Given the description of an element on the screen output the (x, y) to click on. 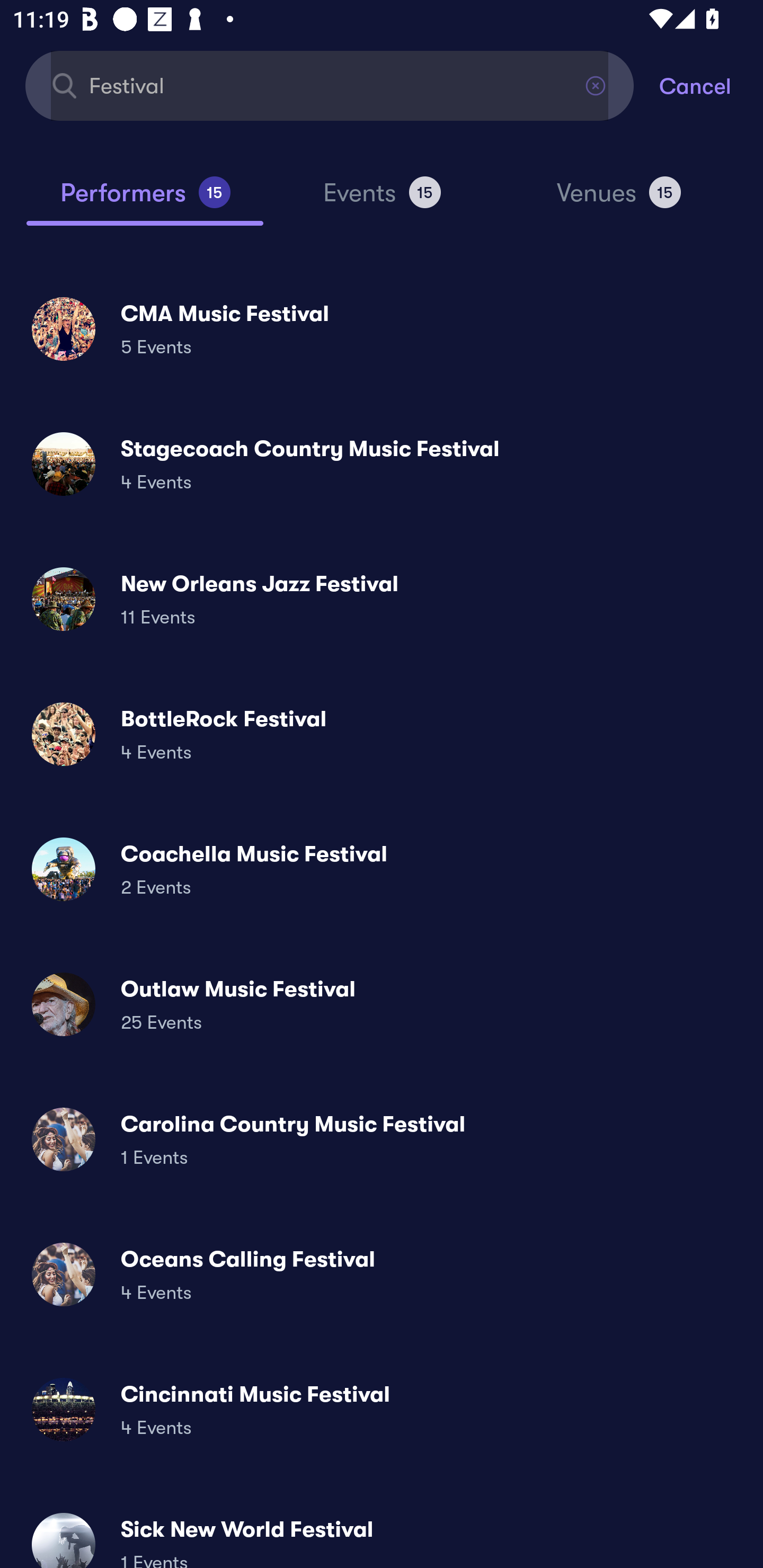
Festival Find (329, 85)
Festival Find (329, 85)
Cancel (711, 85)
Performers 15 (144, 200)
Events 15 (381, 200)
Venues 15 (618, 200)
CMA Music Festival 5 Events (381, 328)
Stagecoach Country Music Festival 4 Events (381, 464)
New Orleans Jazz Festival 11 Events (381, 598)
BottleRock Festival 4 Events (381, 734)
Coachella Music Festival 2 Events (381, 869)
Outlaw Music Festival 25 Events (381, 1004)
Carolina Country Music Festival 1 Events (381, 1138)
Oceans Calling Festival 4 Events (381, 1273)
Cincinnati Music Festival 4 Events (381, 1409)
Sick New World Festival 1 Events (381, 1532)
